Given the description of an element on the screen output the (x, y) to click on. 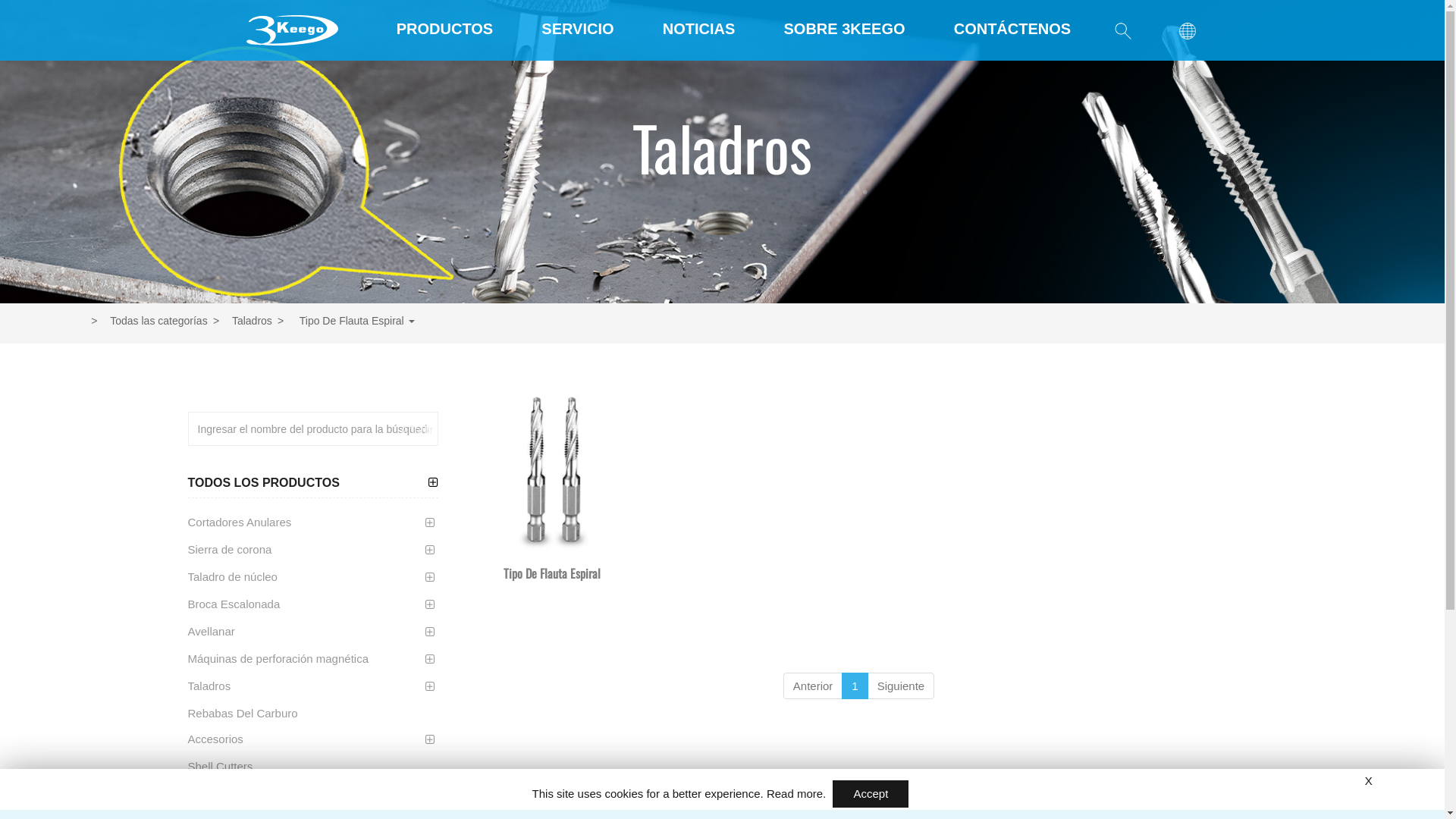
Anterior Element type: text (813, 685)
SOBRE 3KEEGO Element type: text (843, 28)
Accept Element type: text (870, 793)
Rebabas Del Carburo Element type: text (243, 713)
Taladros Element type: text (209, 686)
SHAJENG HARDWARE CO., LTD Element type: hover (291, 30)
Tipo De Flauta Espiral Element type: text (551, 573)
Broca Escalonada Element type: text (234, 604)
Tipo De Flauta Espiral Element type: hover (551, 472)
1 Element type: text (854, 685)
PRODUCTOS Element type: text (444, 28)
NOTICIAS Element type: text (698, 28)
Taladros Element type: text (240, 320)
X Element type: text (1368, 780)
Accesorios Element type: text (215, 739)
Sierra de corona Element type: text (230, 549)
Avellanar Element type: text (211, 631)
Shell Cutters Element type: text (220, 766)
Cortadores Anulares Element type: text (239, 522)
SERVICIO Element type: text (577, 28)
NAVEGAR Element type: text (635, 540)
Tipo De Flauta Espiral Element type: text (343, 320)
Read more. Element type: text (795, 793)
Siguiente Element type: text (901, 685)
